Given the description of an element on the screen output the (x, y) to click on. 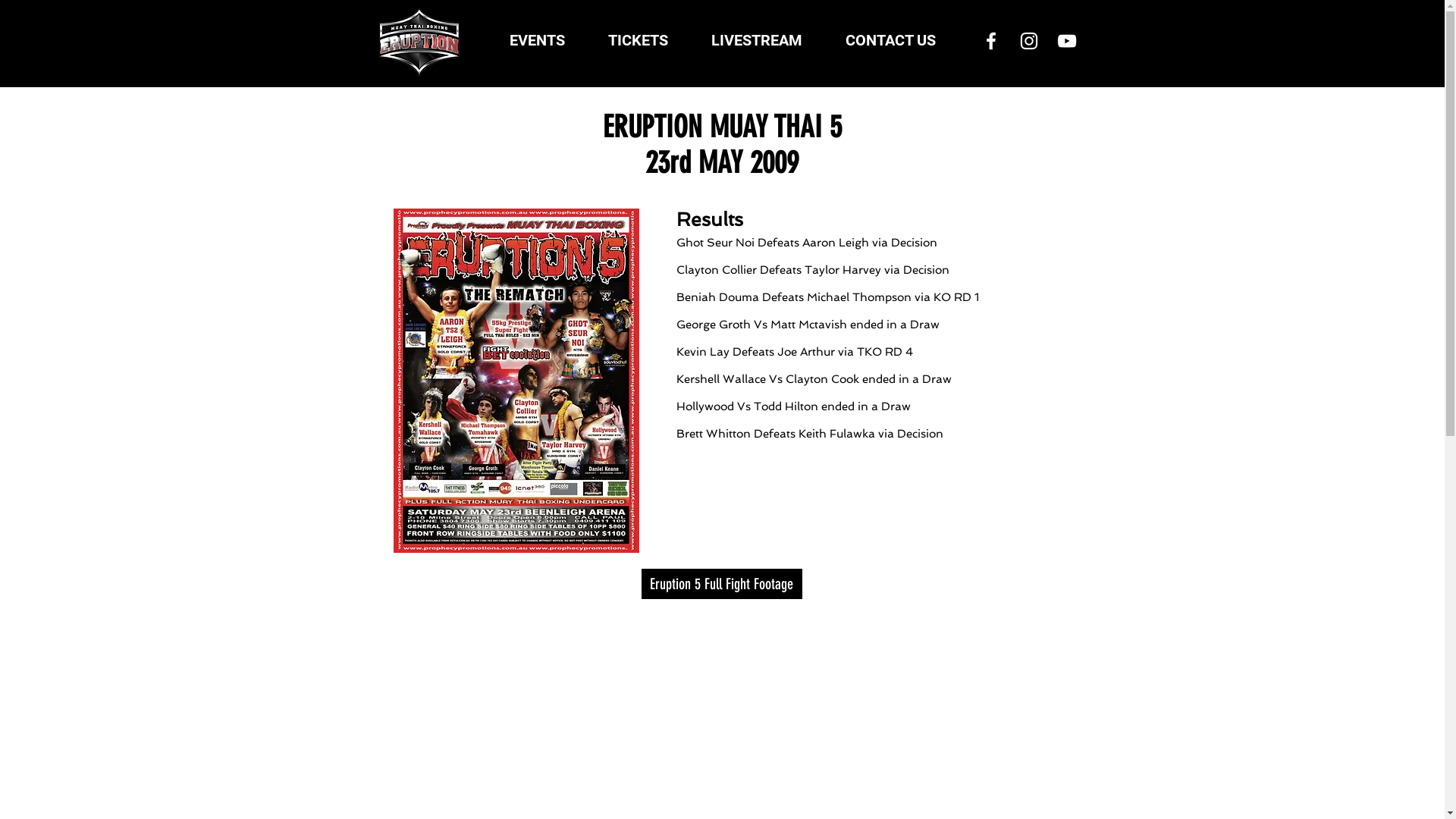
LIVESTREAM Element type: text (757, 40)
TICKETS Element type: text (638, 40)
Eruption 5 Full Fight Footage Element type: text (721, 583)
EVENTS Element type: text (536, 40)
CONTACT US Element type: text (890, 40)
